Given the description of an element on the screen output the (x, y) to click on. 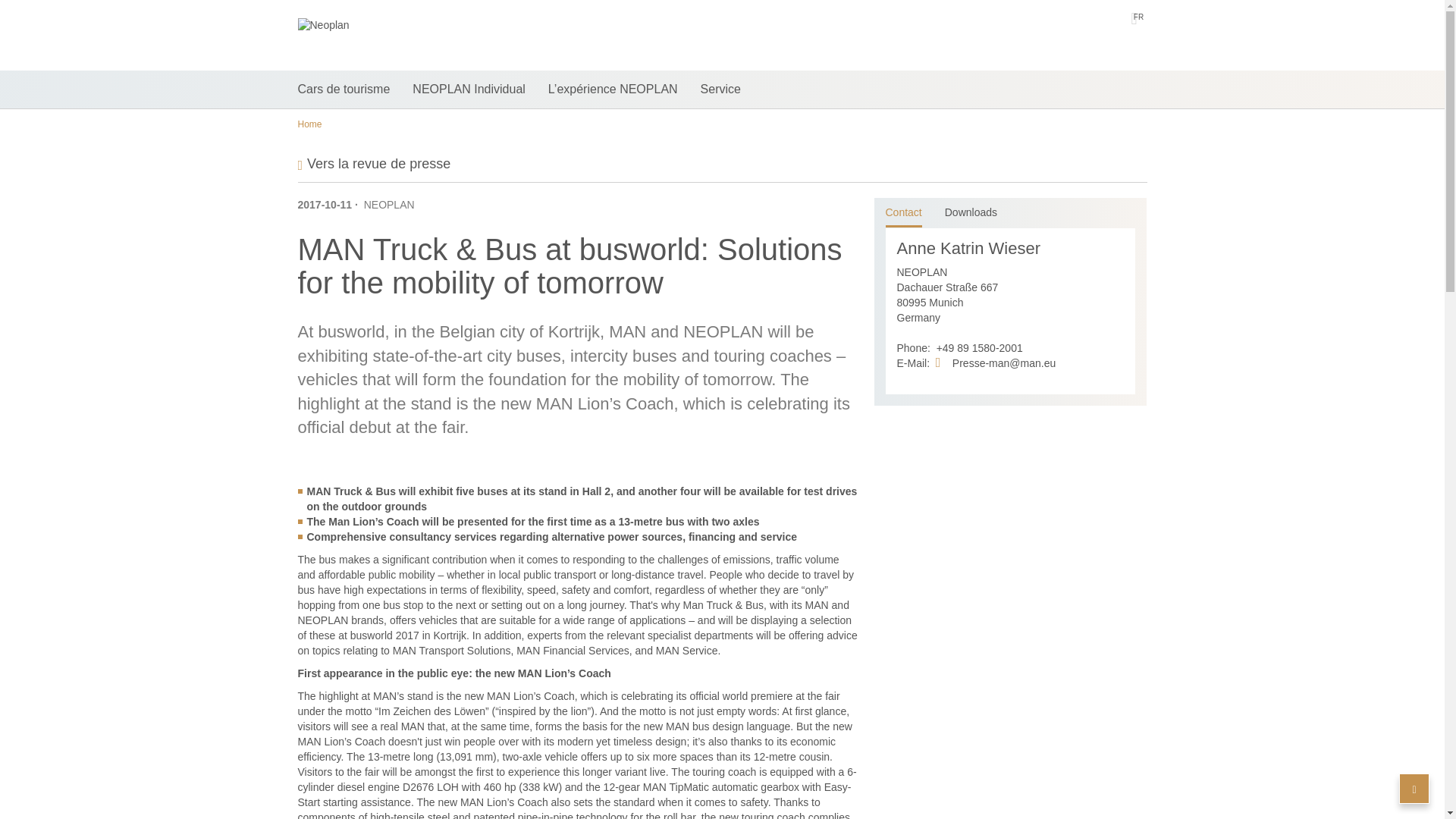
Home (309, 123)
FR (1138, 17)
Service (720, 89)
NEOPLAN Individual (468, 89)
Contact (903, 213)
Downloads (970, 213)
Vers la revue de presse (373, 164)
Cars de tourisme (343, 89)
